Given the description of an element on the screen output the (x, y) to click on. 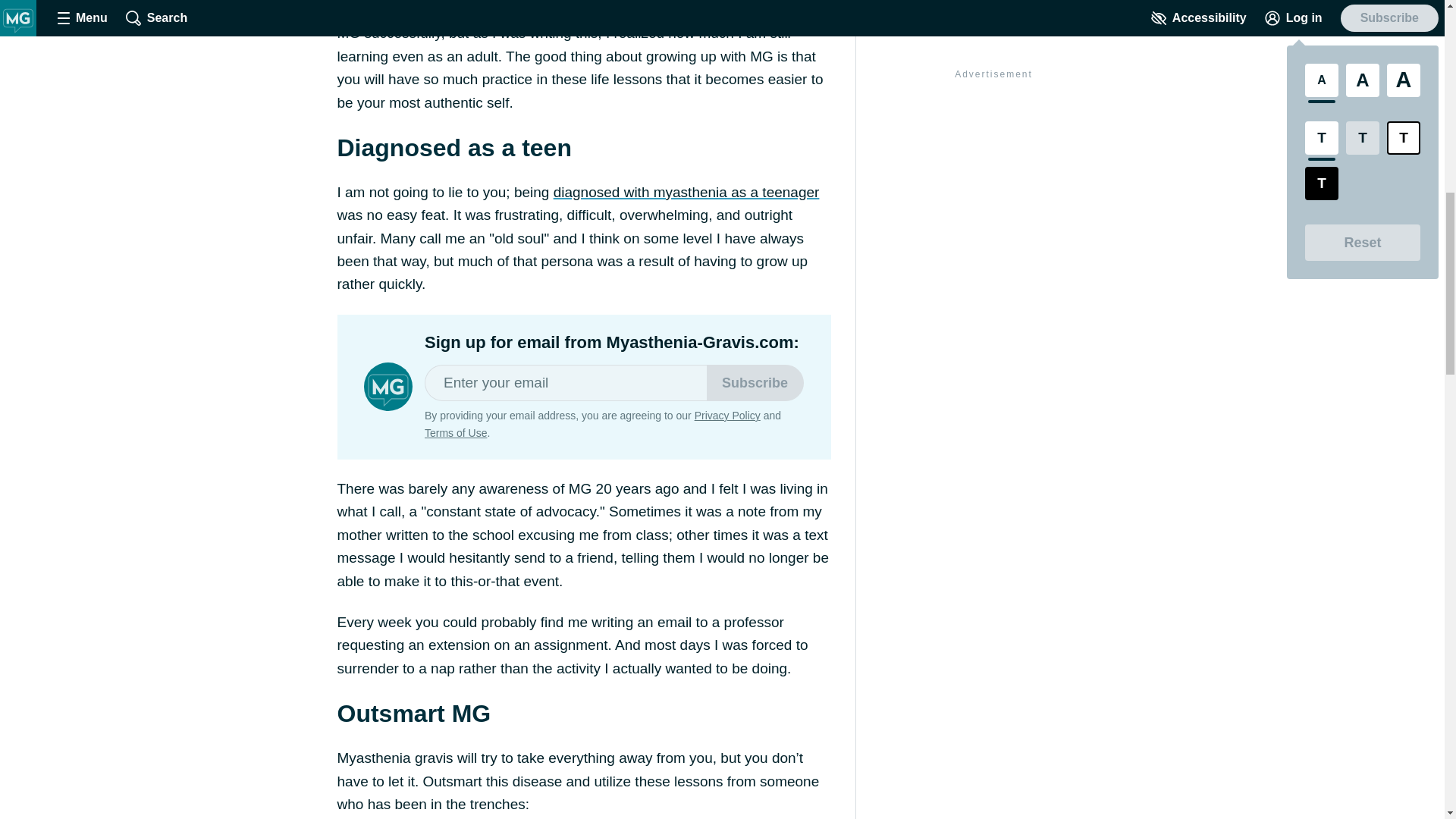
Subscribe (754, 382)
Terms of Use (455, 432)
diagnosed with myasthenia as a teenager (686, 191)
Privacy Policy (727, 415)
